Given the description of an element on the screen output the (x, y) to click on. 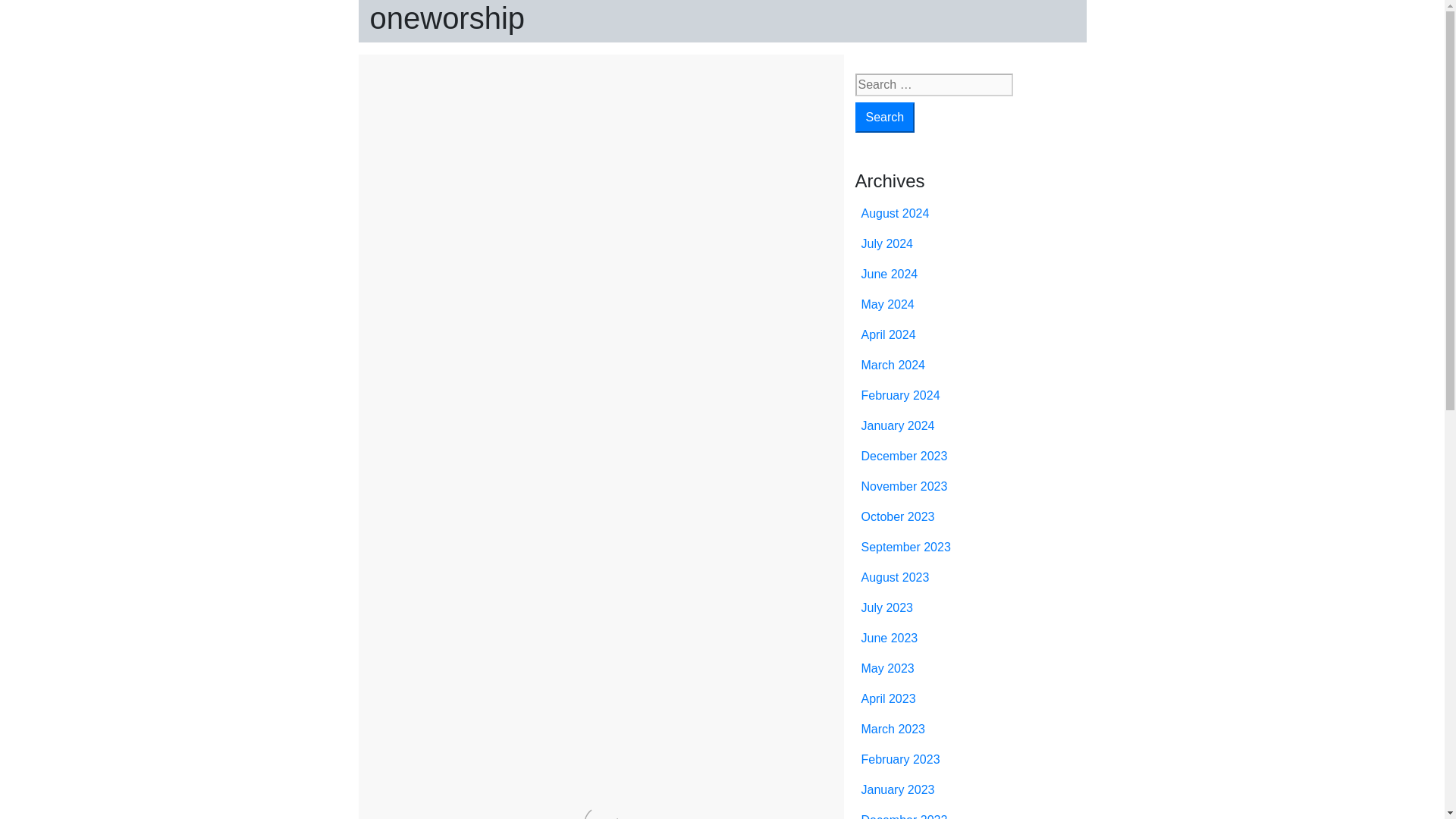
Search (885, 117)
March 2024 (893, 364)
February 2024 (900, 395)
January 2023 (897, 789)
December 2022 (904, 816)
May 28, 2022 (468, 105)
August 2023 (895, 576)
admin (545, 105)
January 2024 (897, 425)
February 2023 (900, 758)
